Given the description of an element on the screen output the (x, y) to click on. 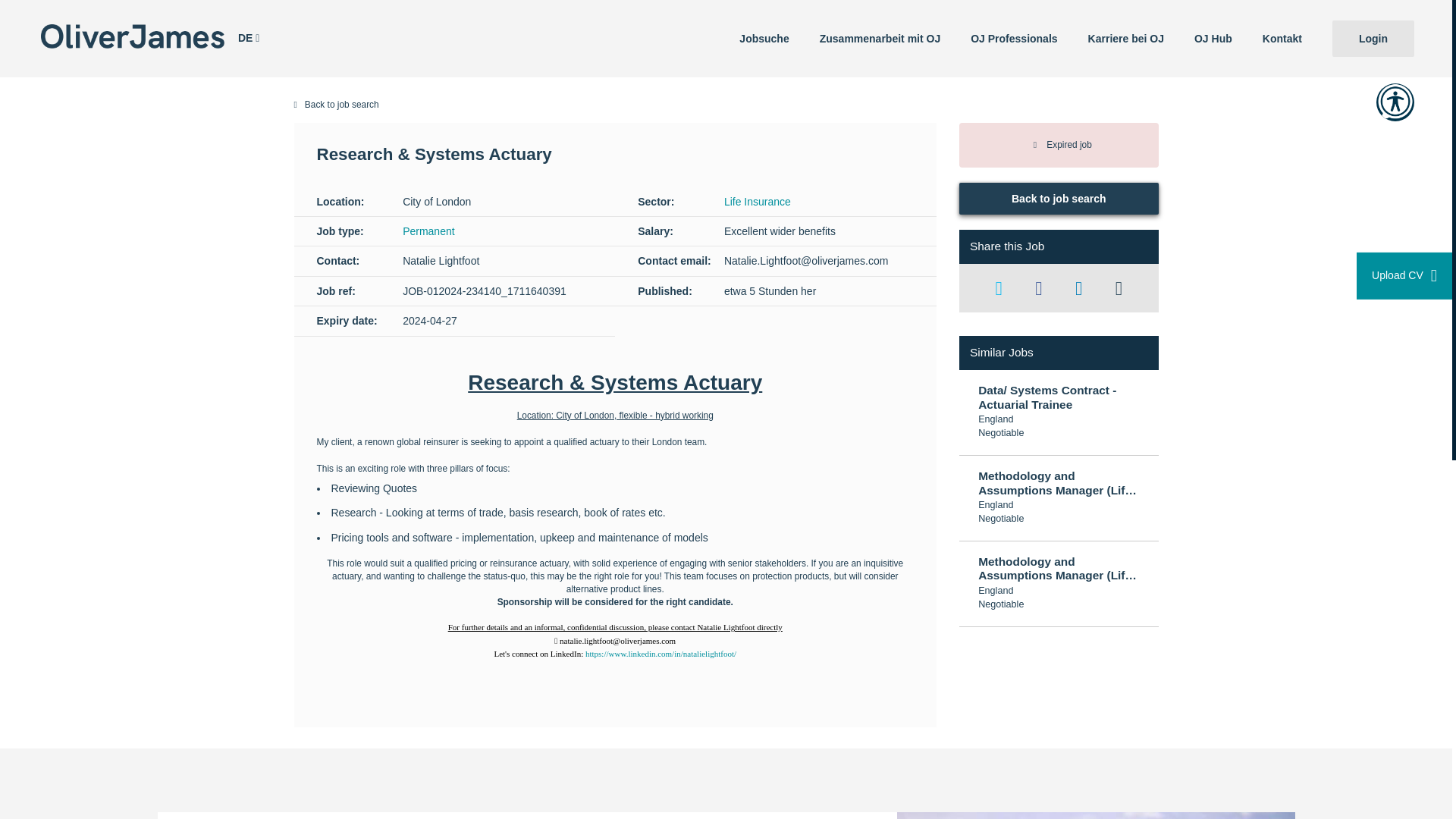
Jobsuche (763, 38)
Kontakt (1282, 38)
Back to job search (726, 104)
Karriere bei OJ (1126, 38)
OJ Professionals (1013, 38)
Zusammenarbeit mit OJ (880, 38)
Upload CV (1404, 275)
Back to job search (1058, 198)
Login (1372, 38)
Life Insurance (756, 201)
